Given the description of an element on the screen output the (x, y) to click on. 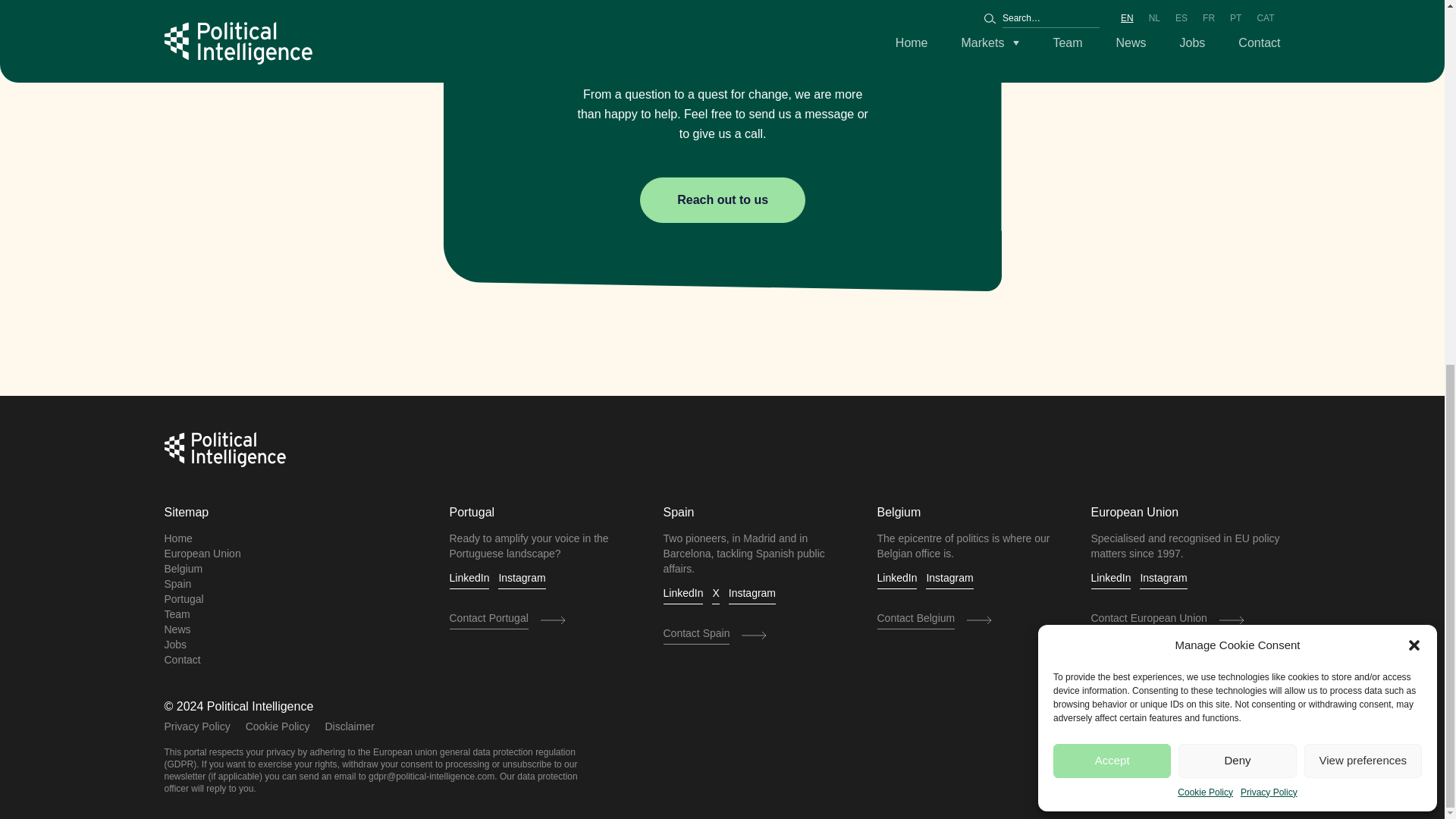
Cookie Policy (1205, 140)
Deny (1236, 107)
Privacy Policy (1268, 140)
View preferences (1363, 107)
Accept (1111, 107)
